Given the description of an element on the screen output the (x, y) to click on. 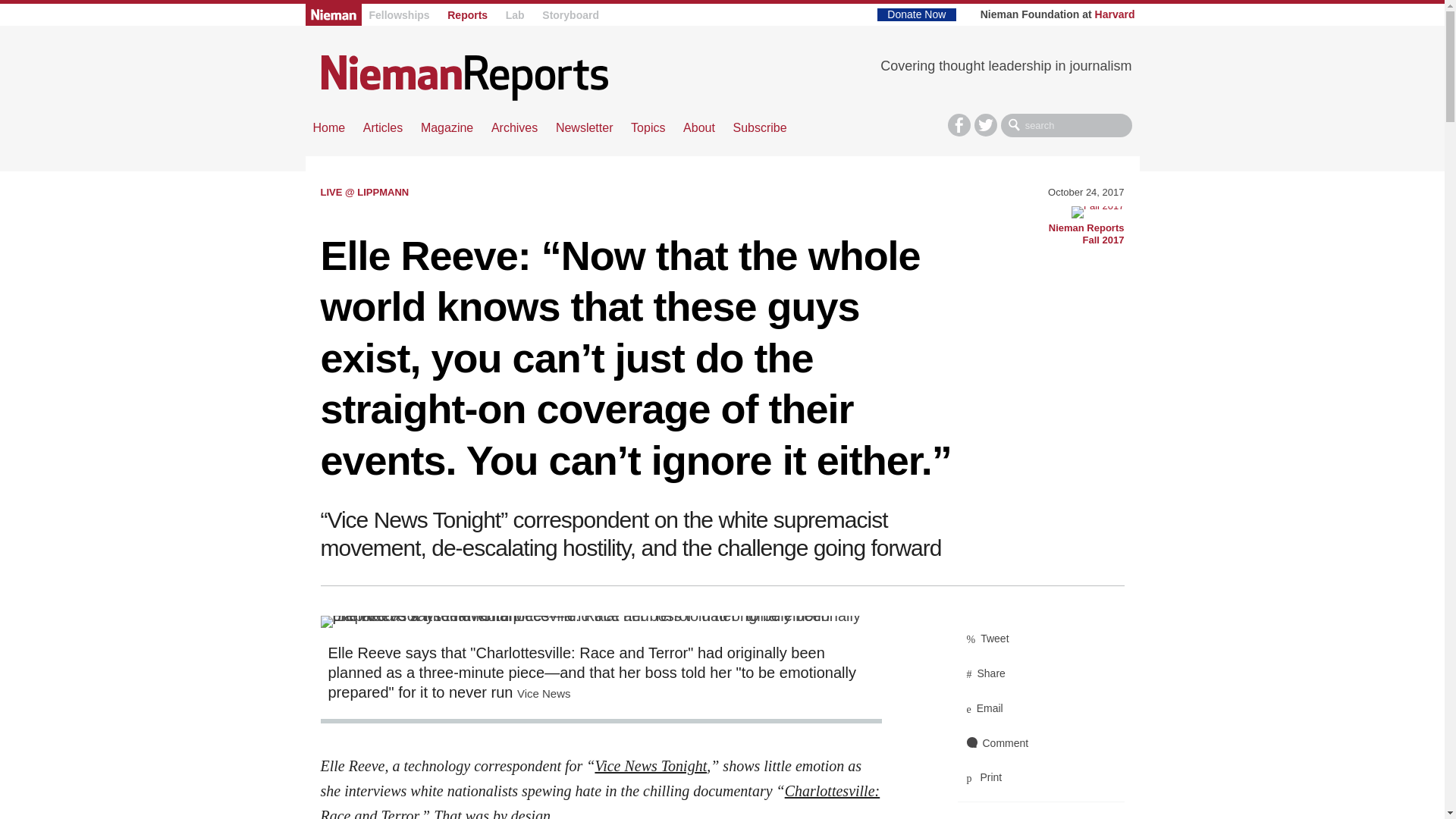
Topics (647, 127)
Comment (1086, 226)
Reports (1040, 743)
Newsletter (466, 15)
T (584, 127)
Type search term here (985, 124)
Lab (1066, 125)
Harvard (514, 15)
Share (1114, 14)
Magazine (1040, 673)
Print (446, 127)
Nieman Foundation Home (1040, 777)
Storyboard (332, 14)
Articles (569, 15)
